Given the description of an element on the screen output the (x, y) to click on. 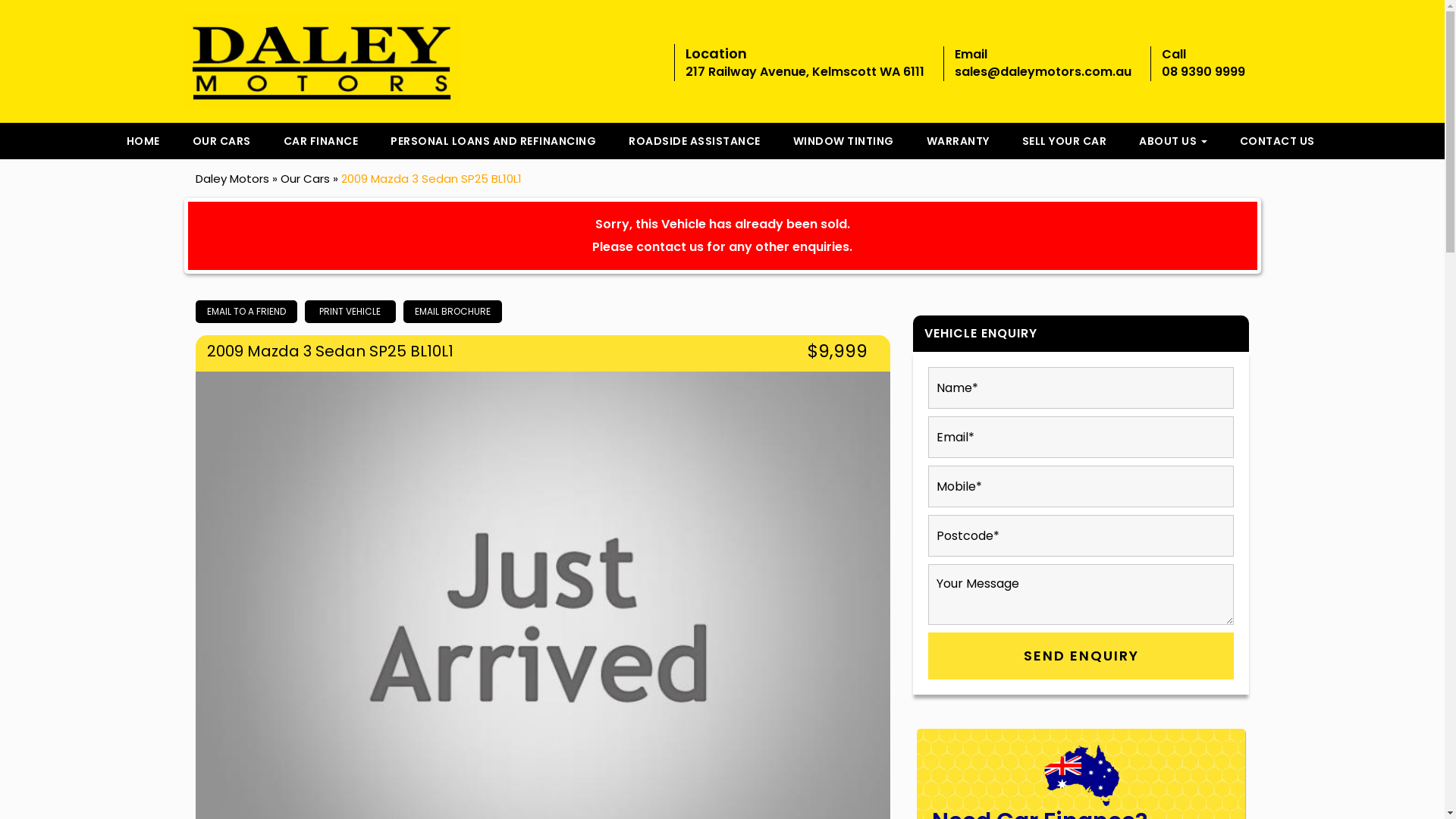
OUR CARS Element type: text (221, 140)
EMAIL TO A FRIEND Element type: text (246, 311)
SELL YOUR CAR Element type: text (1064, 140)
2009 Mazda 3 Sedan SP25 BL10L1 Element type: text (431, 178)
HOME Element type: text (142, 140)
Our Cars Element type: text (304, 178)
WINDOW TINTING Element type: text (843, 140)
PERSONAL LOANS AND REFINANCING Element type: text (492, 140)
Daley Motors Element type: text (232, 178)
CAR FINANCE Element type: text (320, 140)
EMAIL BROCHURE Element type: text (452, 311)
SEND ENQUIRY Element type: text (1080, 655)
PRINT VEHICLE Element type: text (349, 311)
Call
08 9390 9999 Element type: text (1203, 63)
ROADSIDE ASSISTANCE Element type: text (694, 140)
CONTACT US Element type: text (1276, 140)
WARRANTY Element type: text (958, 140)
Email
sales@daleymotors.com.au Element type: text (1042, 63)
ABOUT US Element type: text (1172, 140)
